Given the description of an element on the screen output the (x, y) to click on. 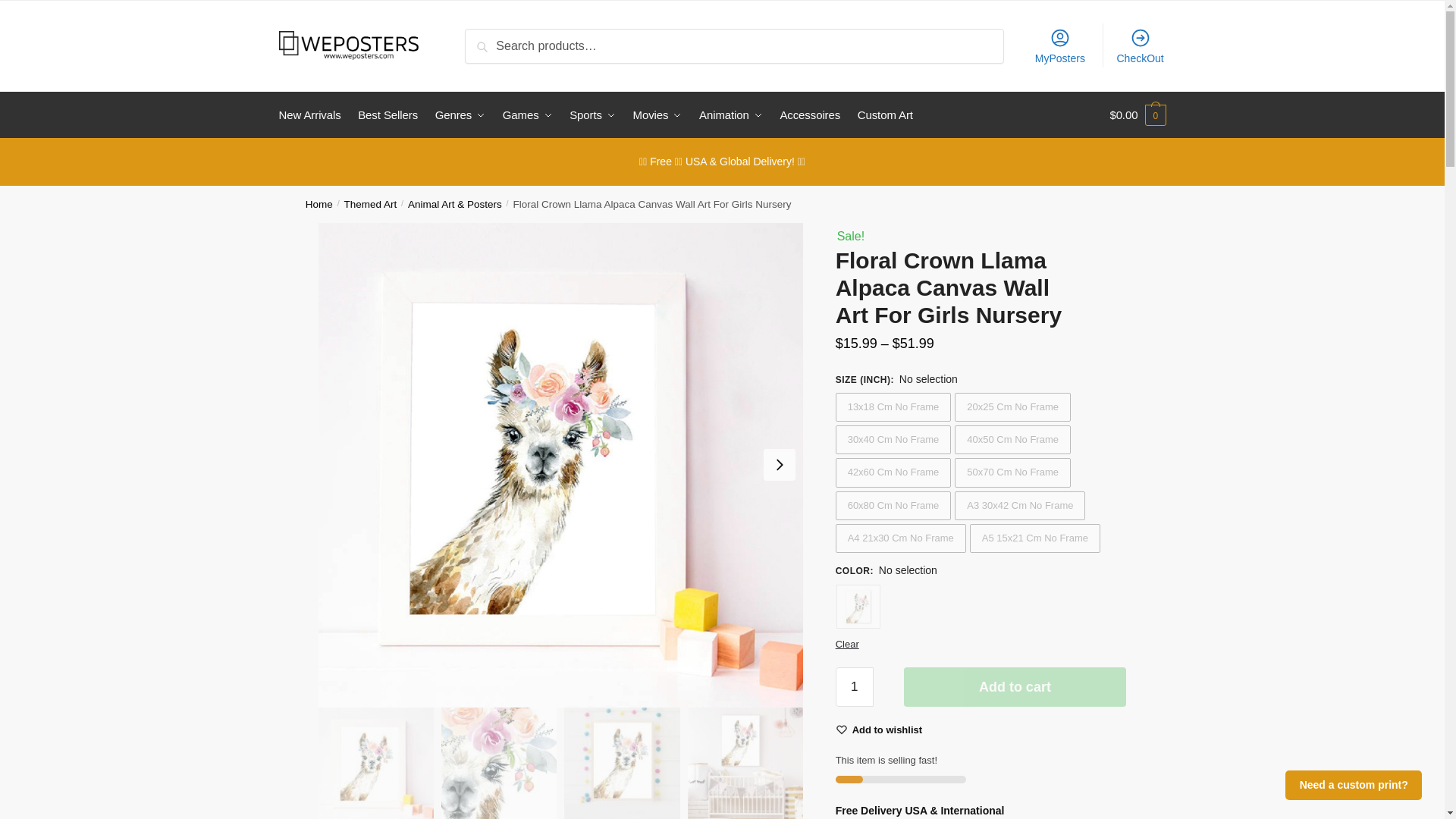
Search (492, 41)
MyPosters (1060, 45)
Genres (460, 115)
View your shopping cart (1137, 115)
Best Sellers (387, 115)
CheckOut (1139, 45)
